Given the description of an element on the screen output the (x, y) to click on. 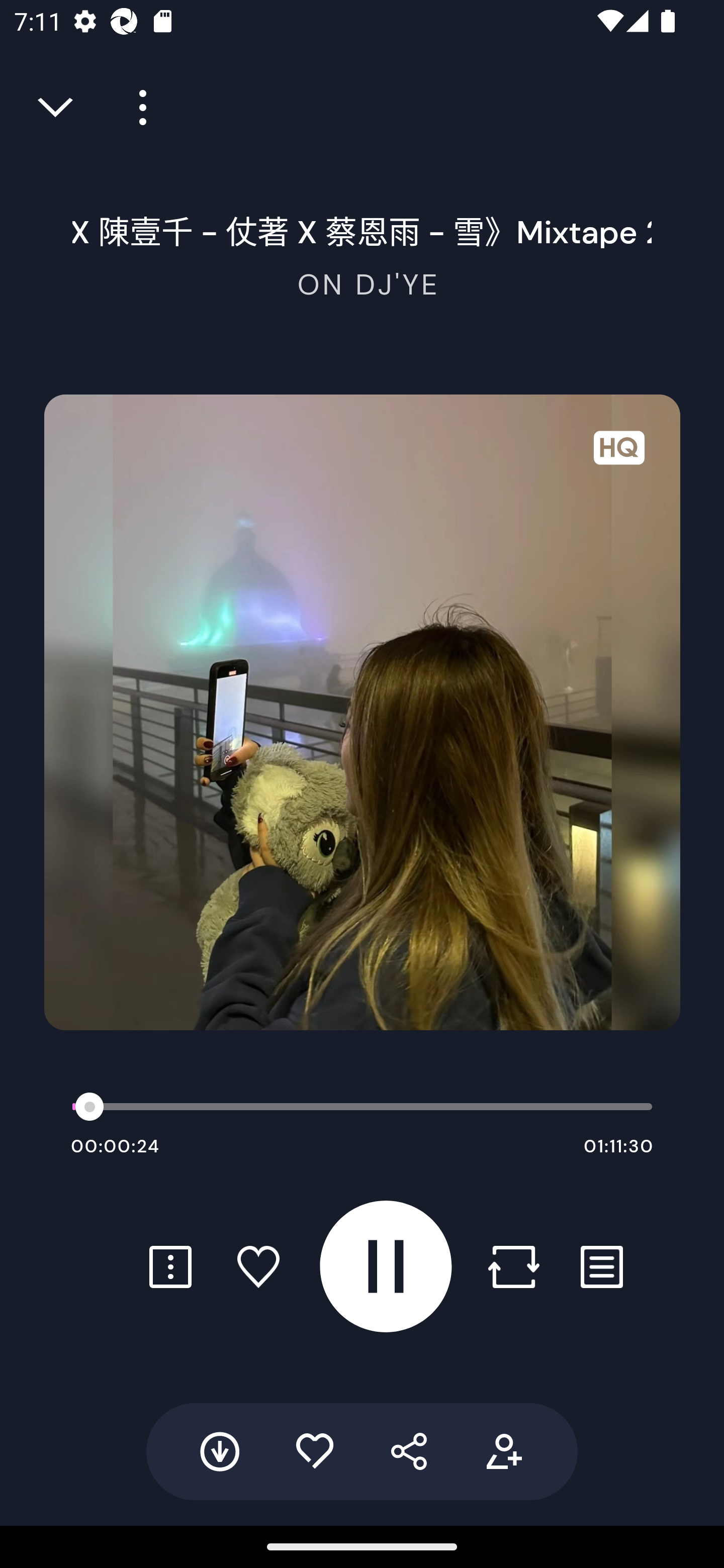
Close full player (57, 107)
Player more options button (136, 107)
Repost button (513, 1266)
